Given the description of an element on the screen output the (x, y) to click on. 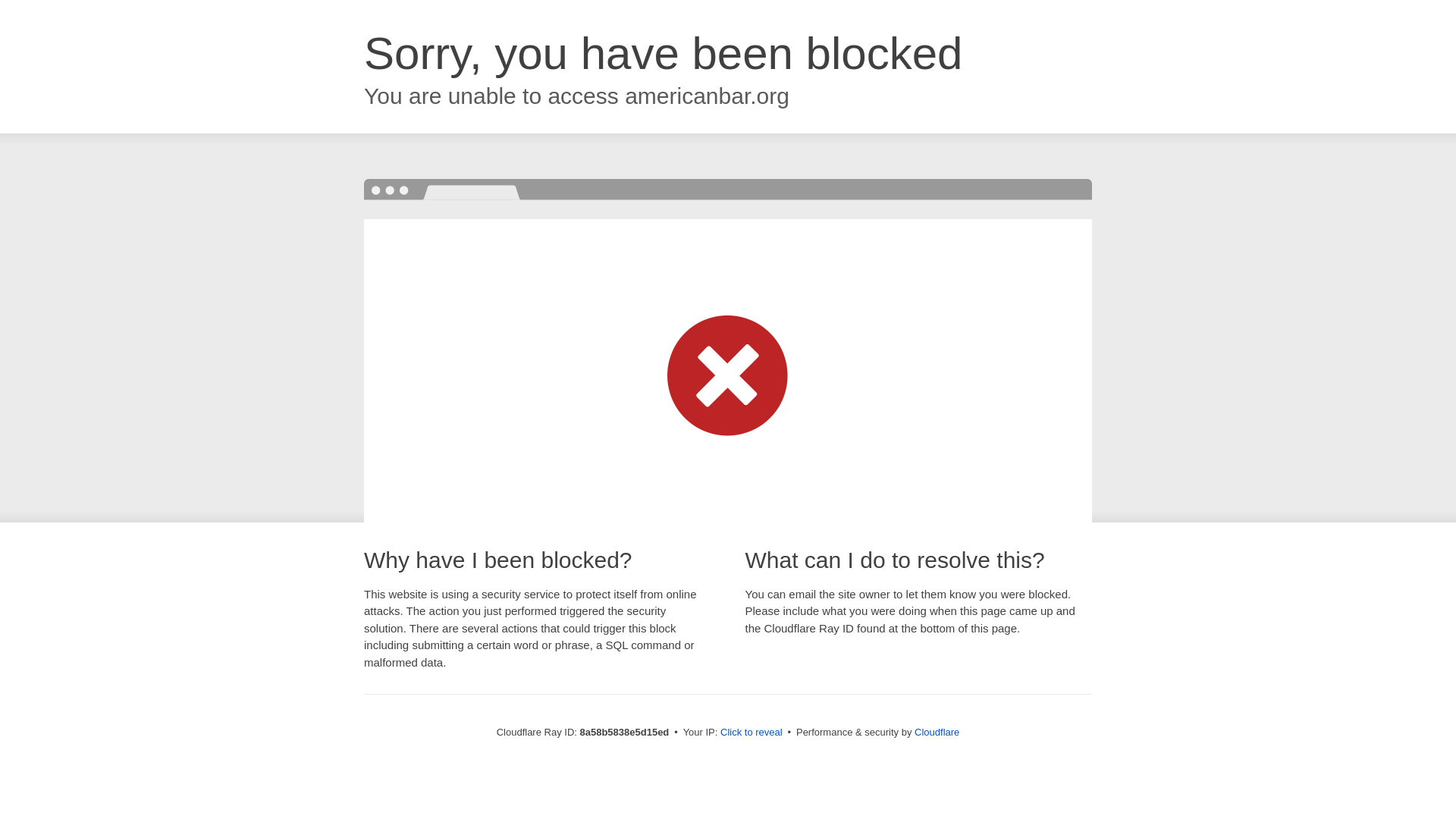
Cloudflare (936, 731)
Click to reveal (751, 732)
